Given the description of an element on the screen output the (x, y) to click on. 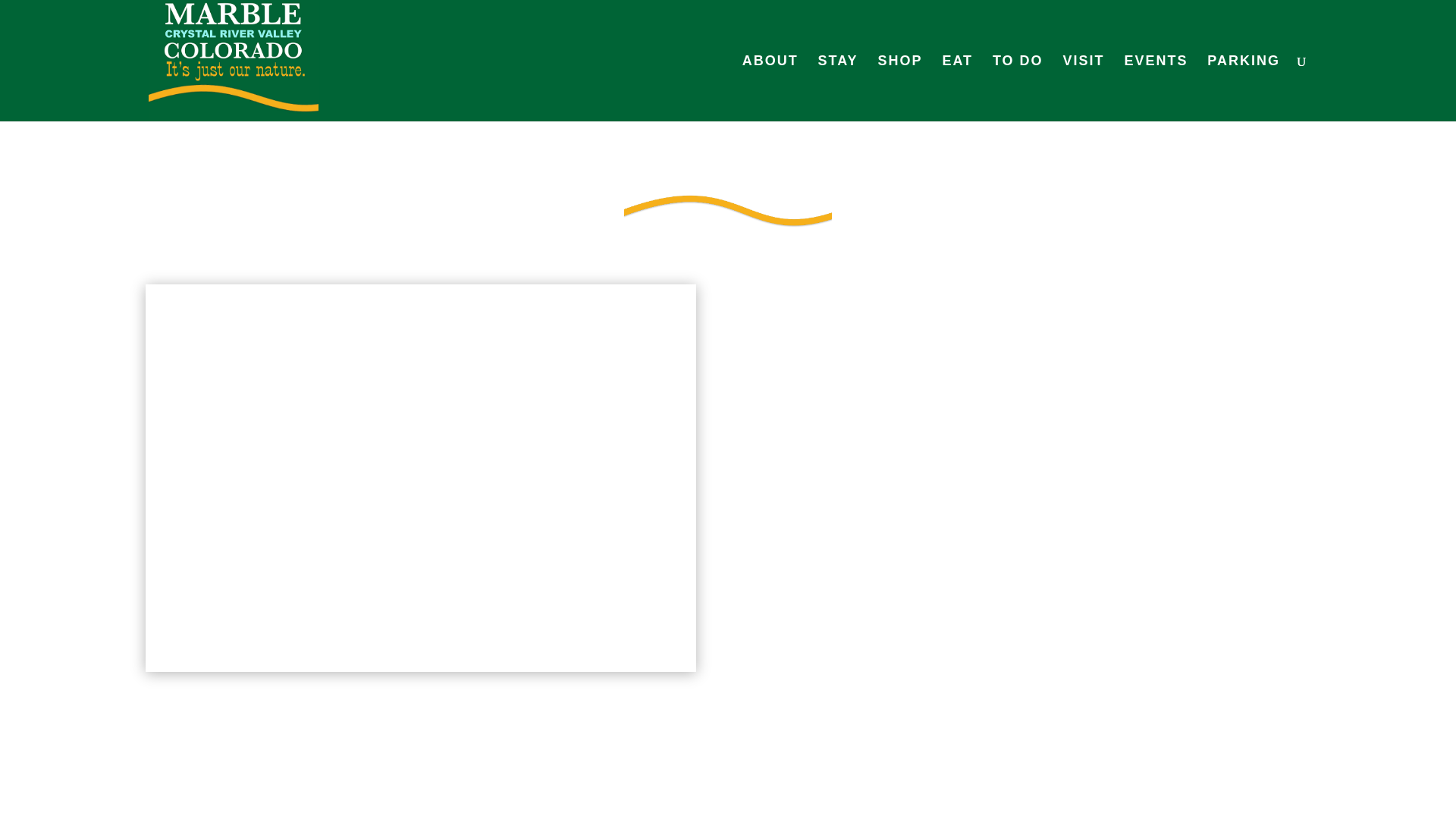
PARKING (1243, 88)
wave with adjusted cmyk (727, 209)
EVENTS (1156, 88)
